Given the description of an element on the screen output the (x, y) to click on. 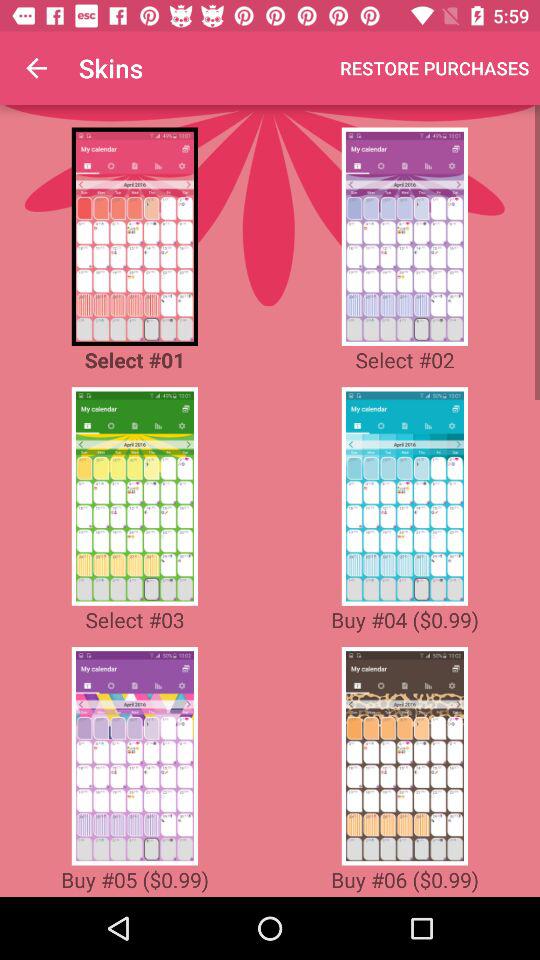
theme selection (404, 236)
